Given the description of an element on the screen output the (x, y) to click on. 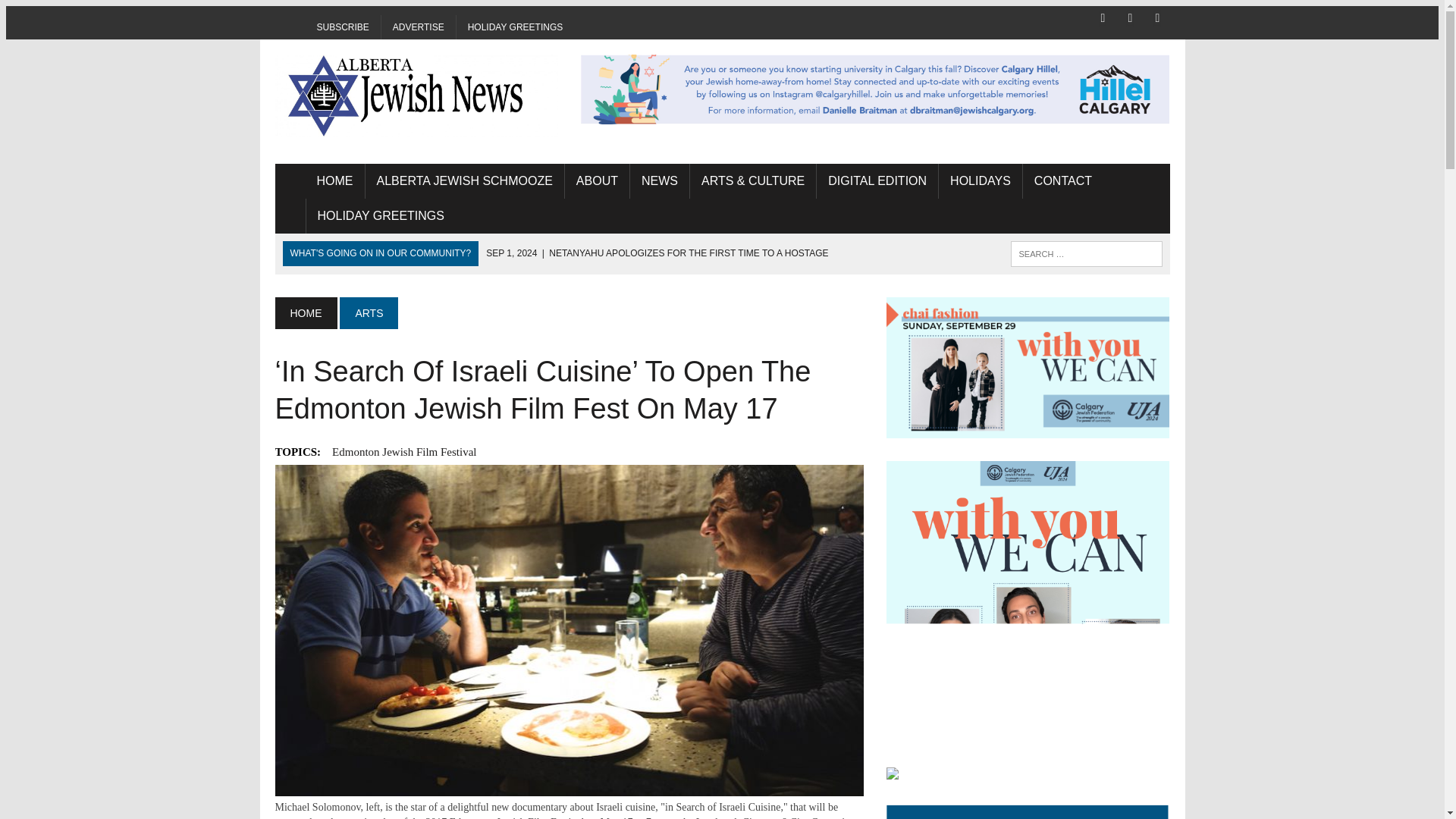
DIGITAL EDITION (876, 181)
HOME (305, 313)
HOLIDAY GREETINGS (380, 216)
Edmonton Jewish Film Festival (403, 452)
ALBERTA JEWISH SCHMOOZE (464, 181)
ABOUT (596, 181)
SUBSCRIBE (342, 27)
HOLIDAY GREETINGS (516, 27)
ARTS (368, 313)
HOLIDAYS (980, 181)
